Given the description of an element on the screen output the (x, y) to click on. 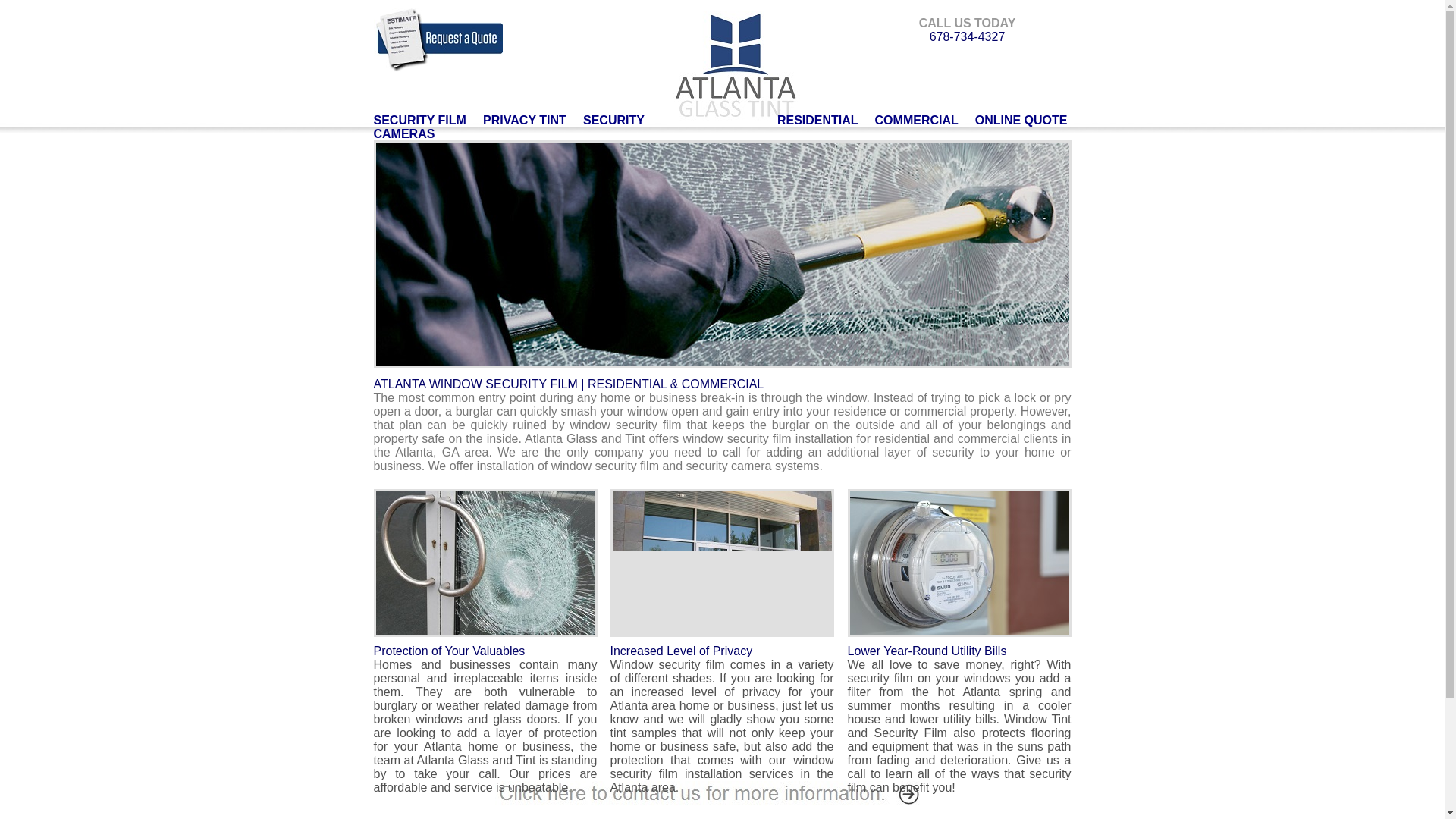
PRIVACY TINT (524, 119)
SECURITY CAMERAS (507, 126)
ONLINE QUOTE (1021, 119)
SECURITY FILM (418, 119)
COMMERCIAL (916, 119)
RESIDENTIAL (817, 119)
